Given the description of an element on the screen output the (x, y) to click on. 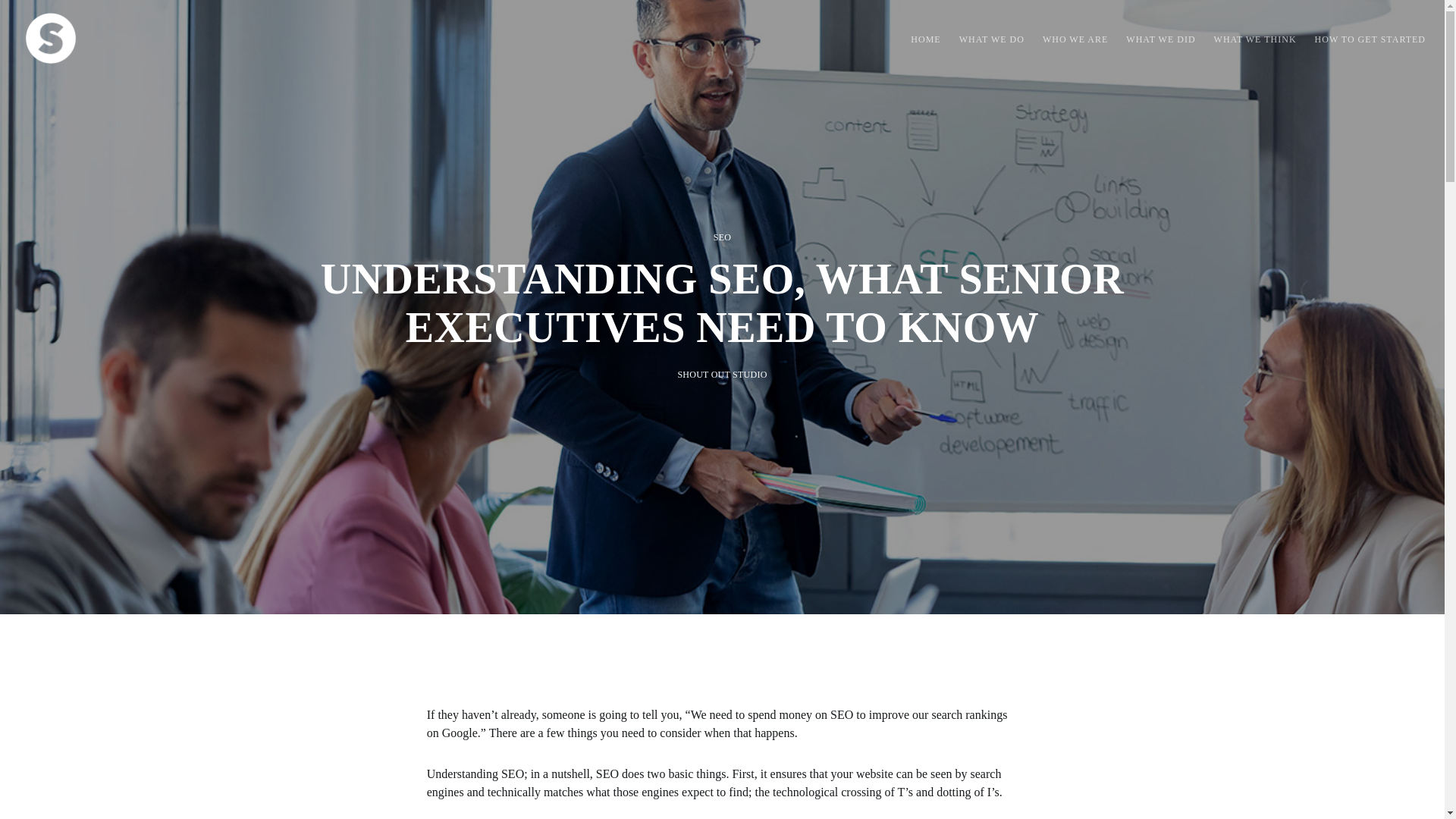
HOW TO GET STARTED (1361, 38)
WHAT WE DO (982, 38)
WHAT WE DID (1151, 38)
WHO WE ARE (1066, 38)
WHAT WE THINK (1246, 38)
SEO (721, 236)
